Given the description of an element on the screen output the (x, y) to click on. 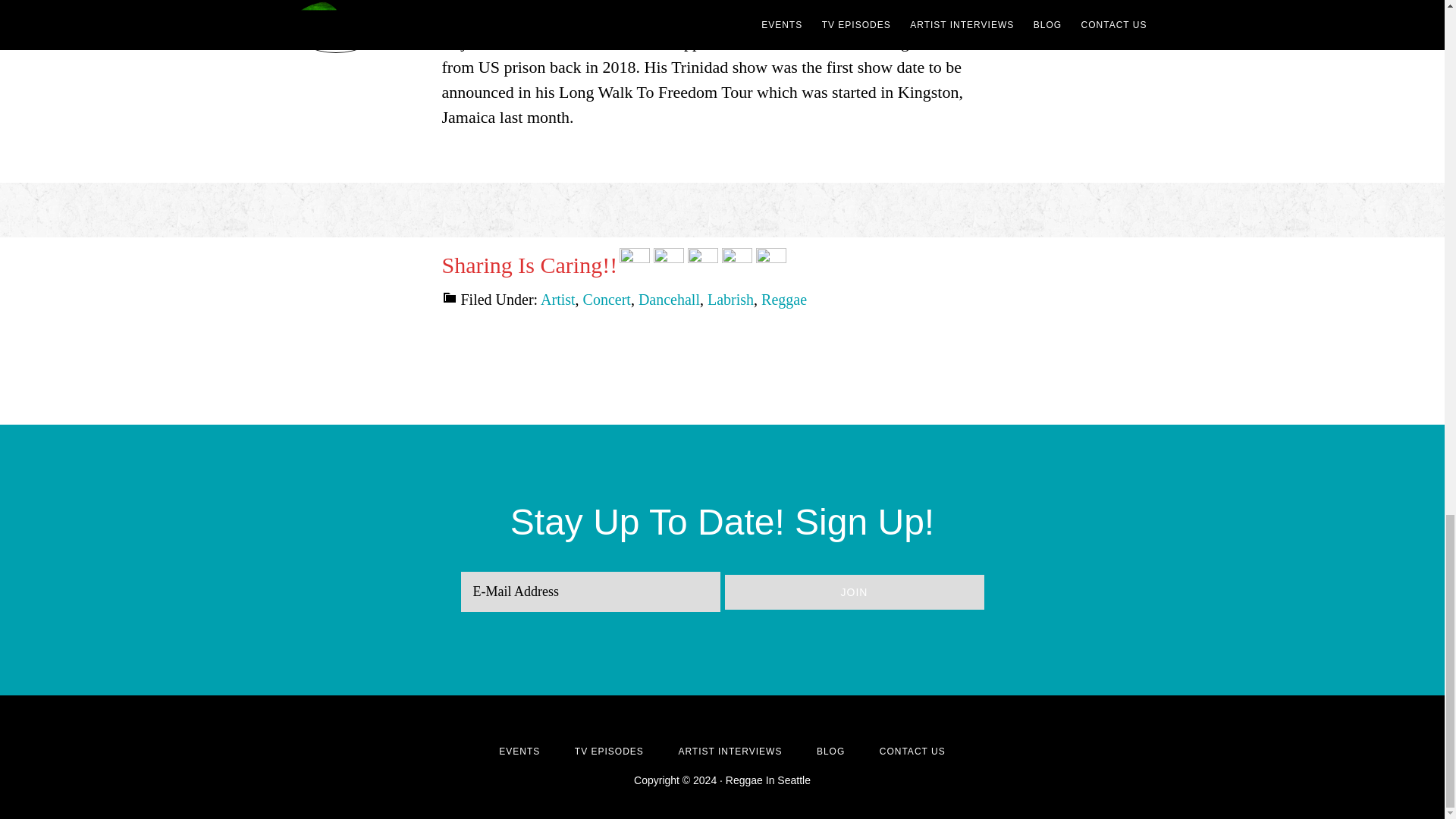
Join (854, 591)
TV EPISODES (609, 750)
Dancehall (669, 299)
Concert (606, 299)
CONTACT US (911, 750)
Labrish (730, 299)
BLOG (830, 750)
Join (854, 591)
ARTIST INTERVIEWS (729, 750)
Artist (557, 299)
EVENTS (519, 750)
Reggae (783, 299)
